Given the description of an element on the screen output the (x, y) to click on. 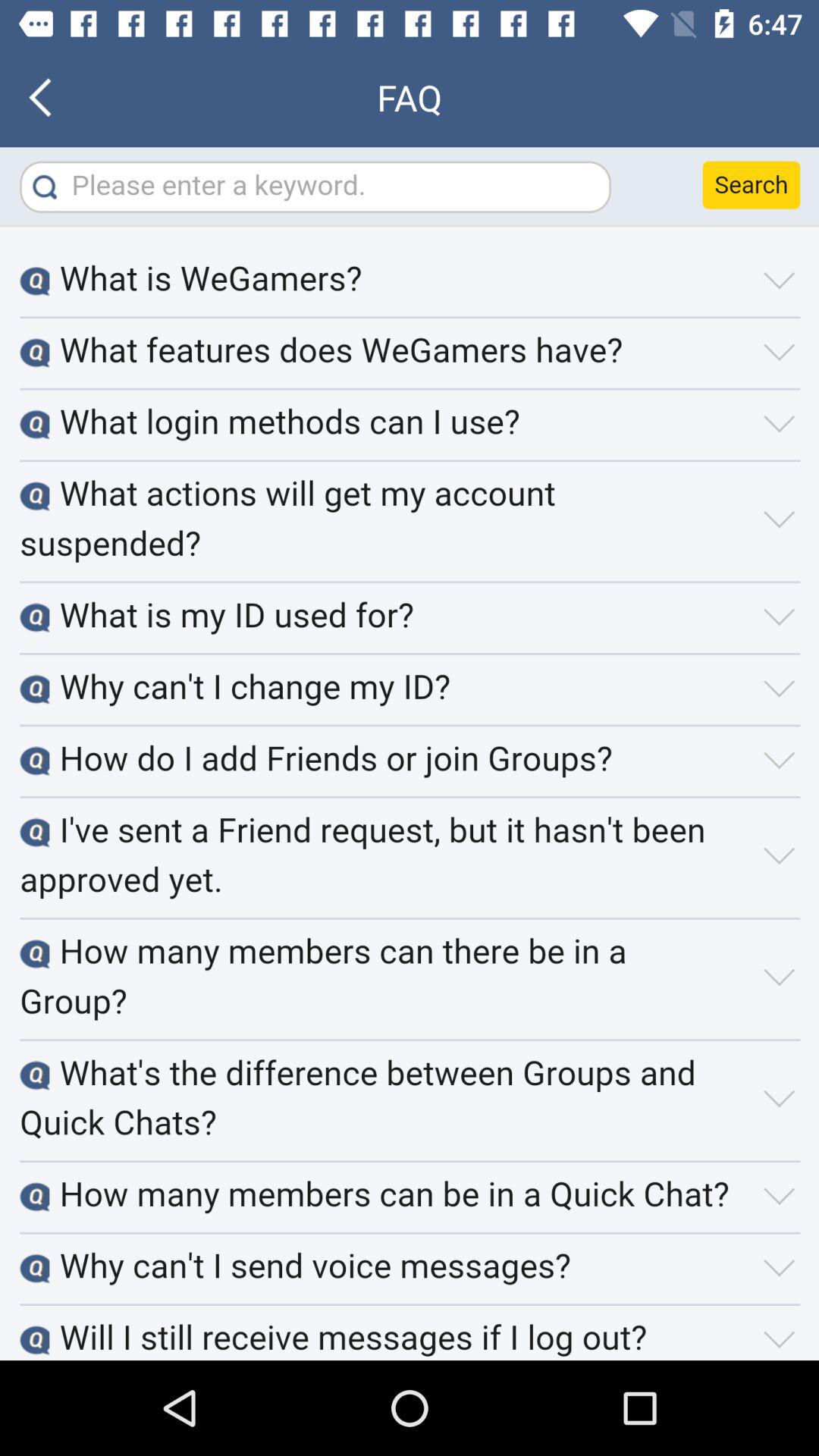
description (409, 753)
